Given the description of an element on the screen output the (x, y) to click on. 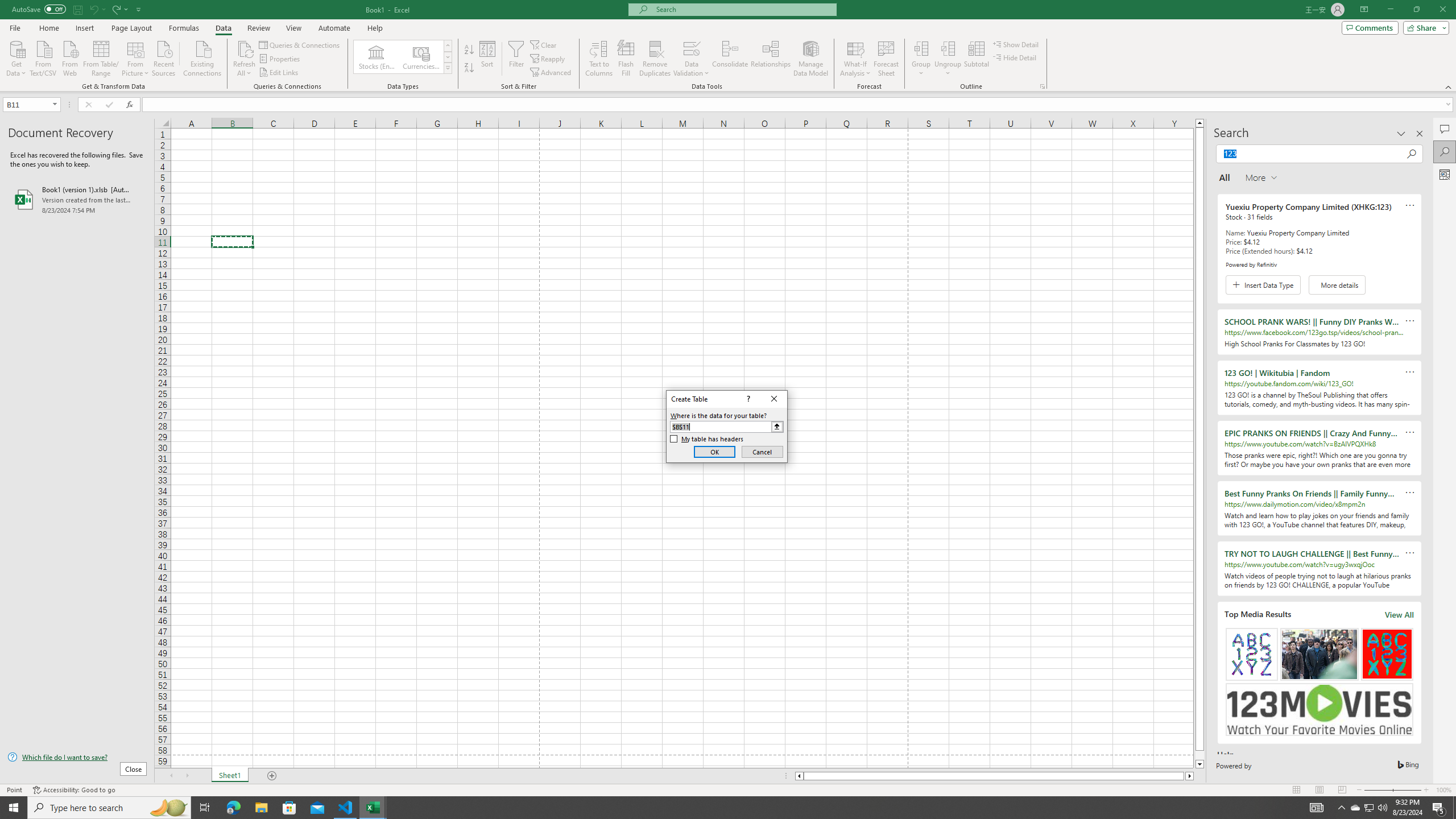
From Text/CSV (43, 57)
Close pane (1419, 133)
Subtotal (976, 58)
Accessibility Checker Accessibility: Good to go (74, 790)
Currencies (English) (420, 56)
Sort A to Z (469, 49)
OK (714, 451)
